Given the description of an element on the screen output the (x, y) to click on. 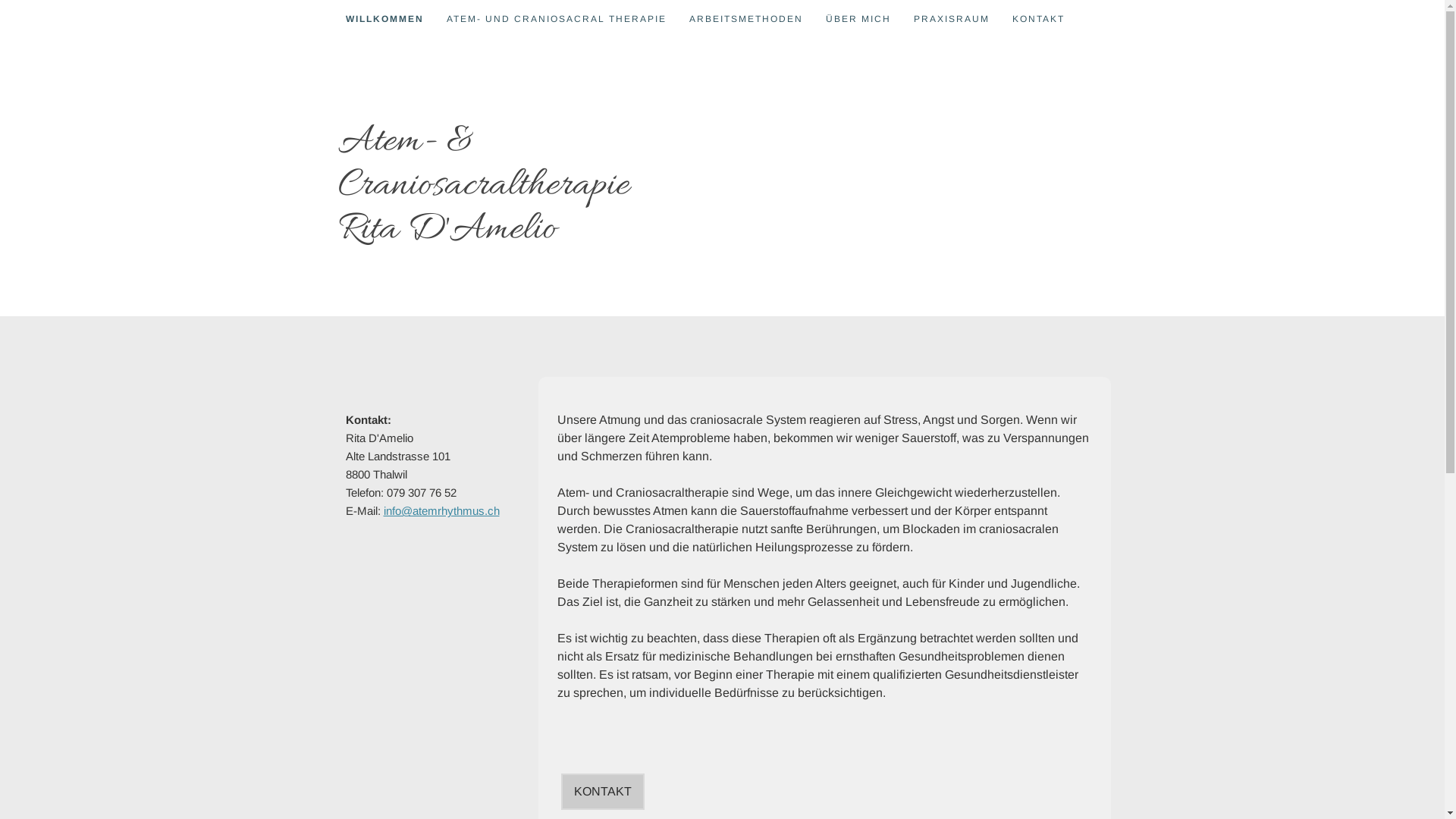
info@atemrhythmus.ch Element type: text (441, 510)
ATEM- UND CRANIOSACRAL THERAPIE Element type: text (556, 18)
PRAXISRAUM Element type: text (951, 18)
KONTAKT Element type: text (1038, 18)
ARBEITSMETHODEN Element type: text (745, 18)
Atem- &
Craniosacraltherapie
Rita D'Amelio Element type: text (483, 188)
KONTAKT Element type: text (602, 791)
WILLKOMMEN Element type: text (383, 18)
